Given the description of an element on the screen output the (x, y) to click on. 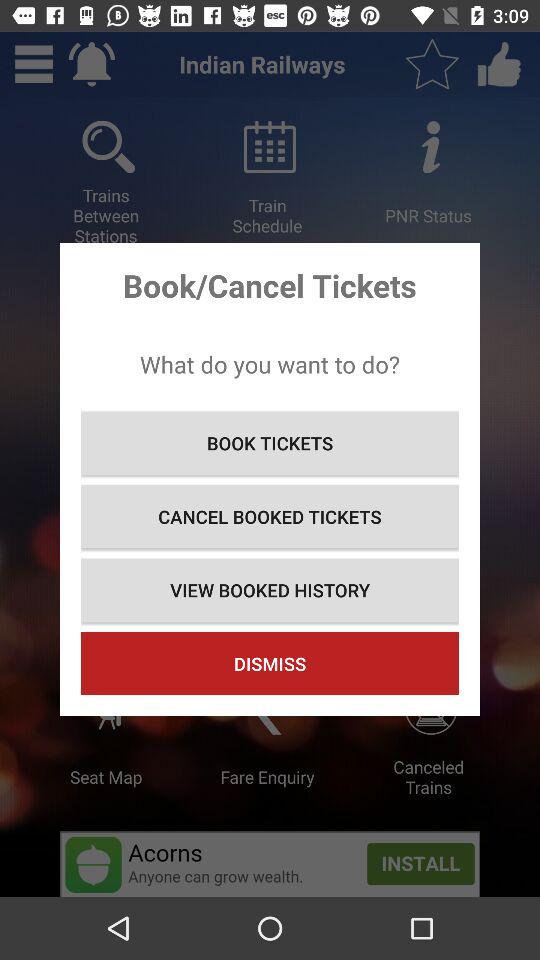
turn on item below view booked history (270, 663)
